Given the description of an element on the screen output the (x, y) to click on. 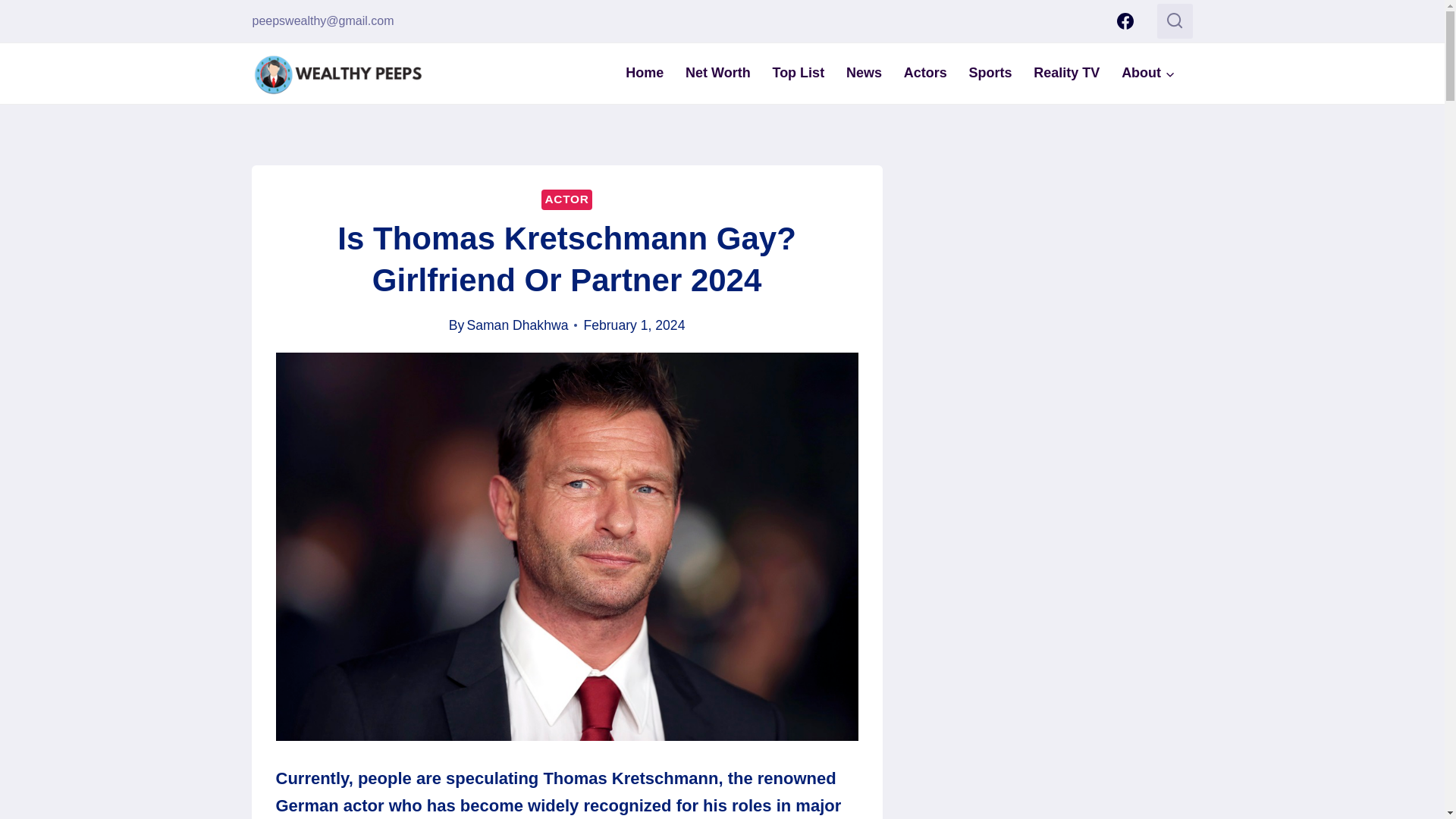
Top List (797, 72)
Reality TV (1066, 72)
Sports (990, 72)
Saman Dhakhwa (516, 324)
News (864, 72)
About (1148, 72)
ACTOR (566, 199)
Actors (925, 72)
Home (644, 72)
Net Worth (718, 72)
